Given the description of an element on the screen output the (x, y) to click on. 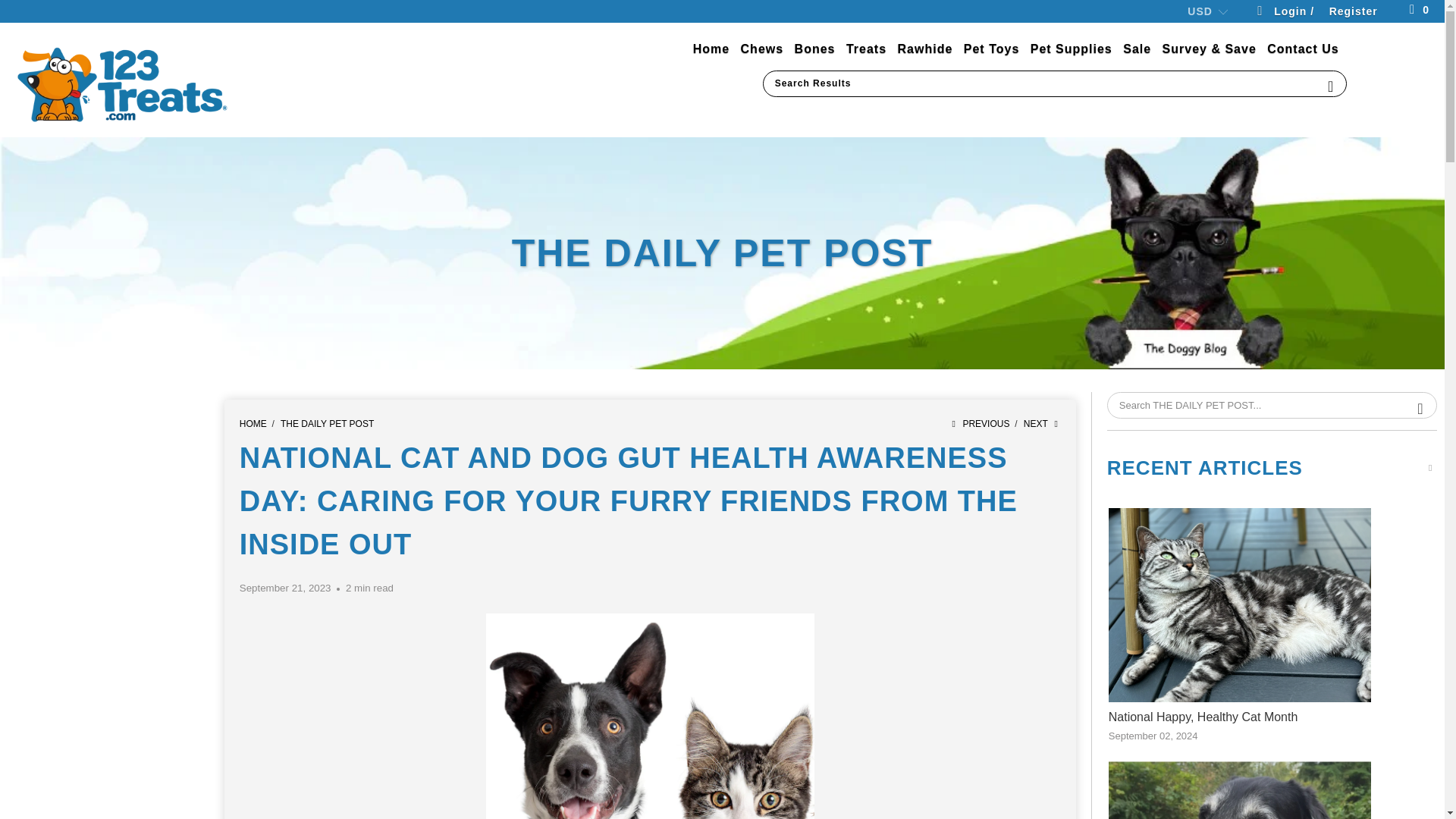
Rawhide (925, 48)
Home (711, 48)
123treats (253, 423)
My Account  (1352, 13)
Chews (762, 48)
123treats (122, 83)
National Happy, Healthy Cat Month (1238, 615)
Login (1283, 13)
Rainbow Bridge Remembrance Day: Honoring Our Beloved Pets (1238, 790)
Treats (865, 48)
